Given the description of an element on the screen output the (x, y) to click on. 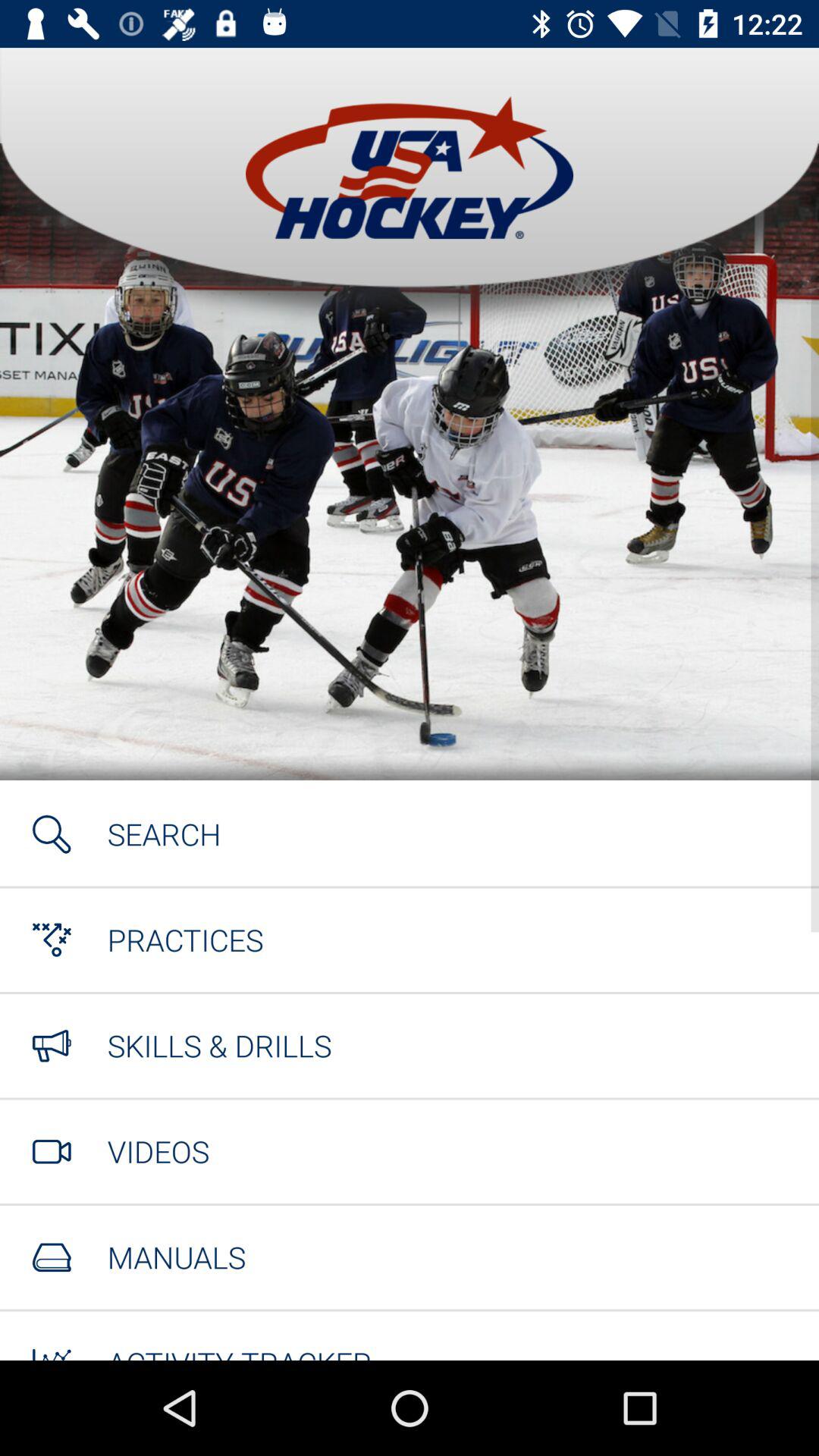
flip to the search icon (164, 833)
